Given the description of an element on the screen output the (x, y) to click on. 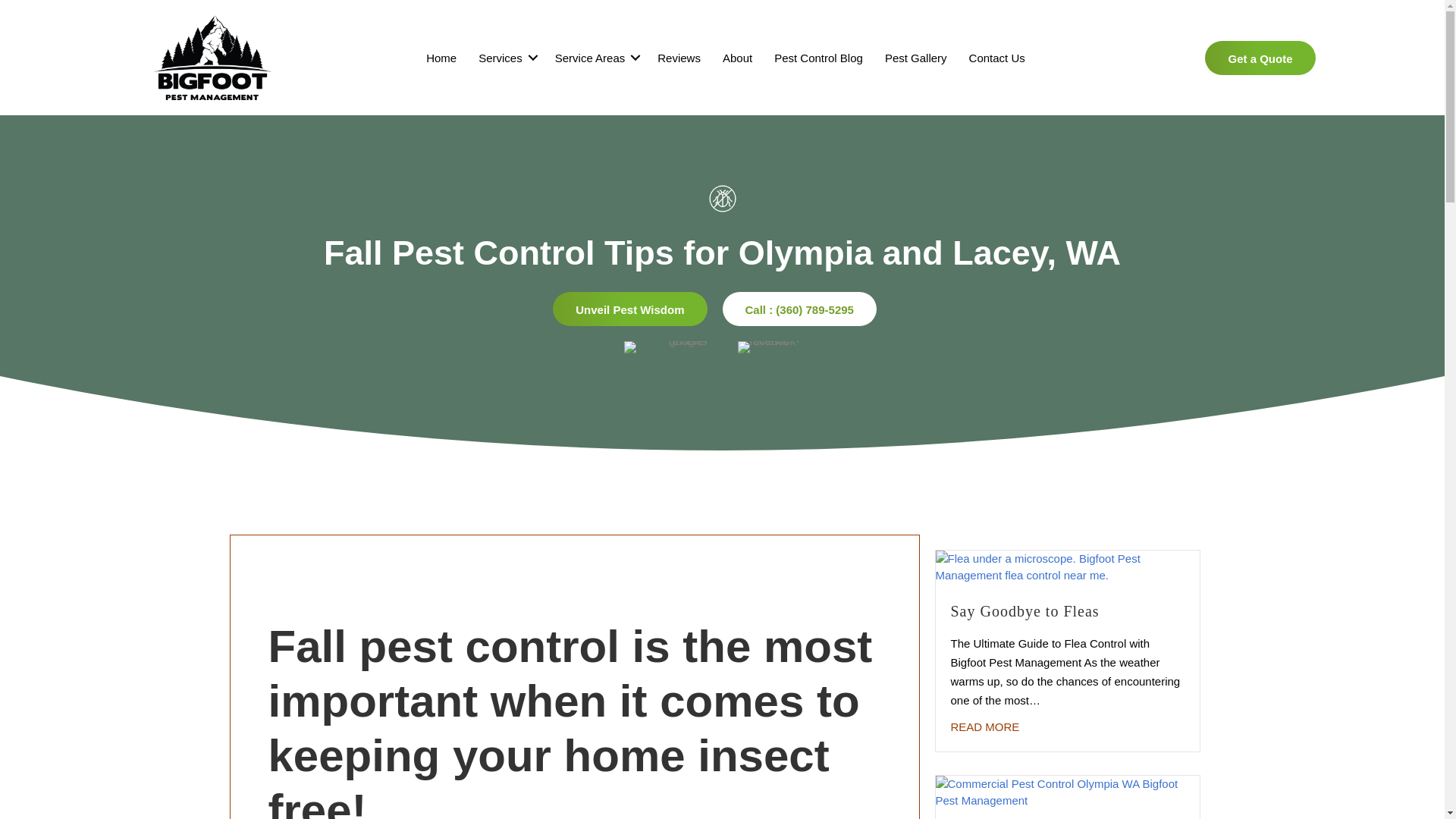
Pest Gallery (916, 57)
Say Goodbye to Fleas (1024, 610)
Big Foot Pest Management - (212, 57)
Service Areas (595, 57)
About (736, 57)
Pest Control Blog (817, 57)
Say Goodbye to Fleas (985, 726)
google-reviews (664, 357)
Benefits Of Pest Control For Your Business (1067, 790)
facebook-reviews (778, 357)
